Given the description of an element on the screen output the (x, y) to click on. 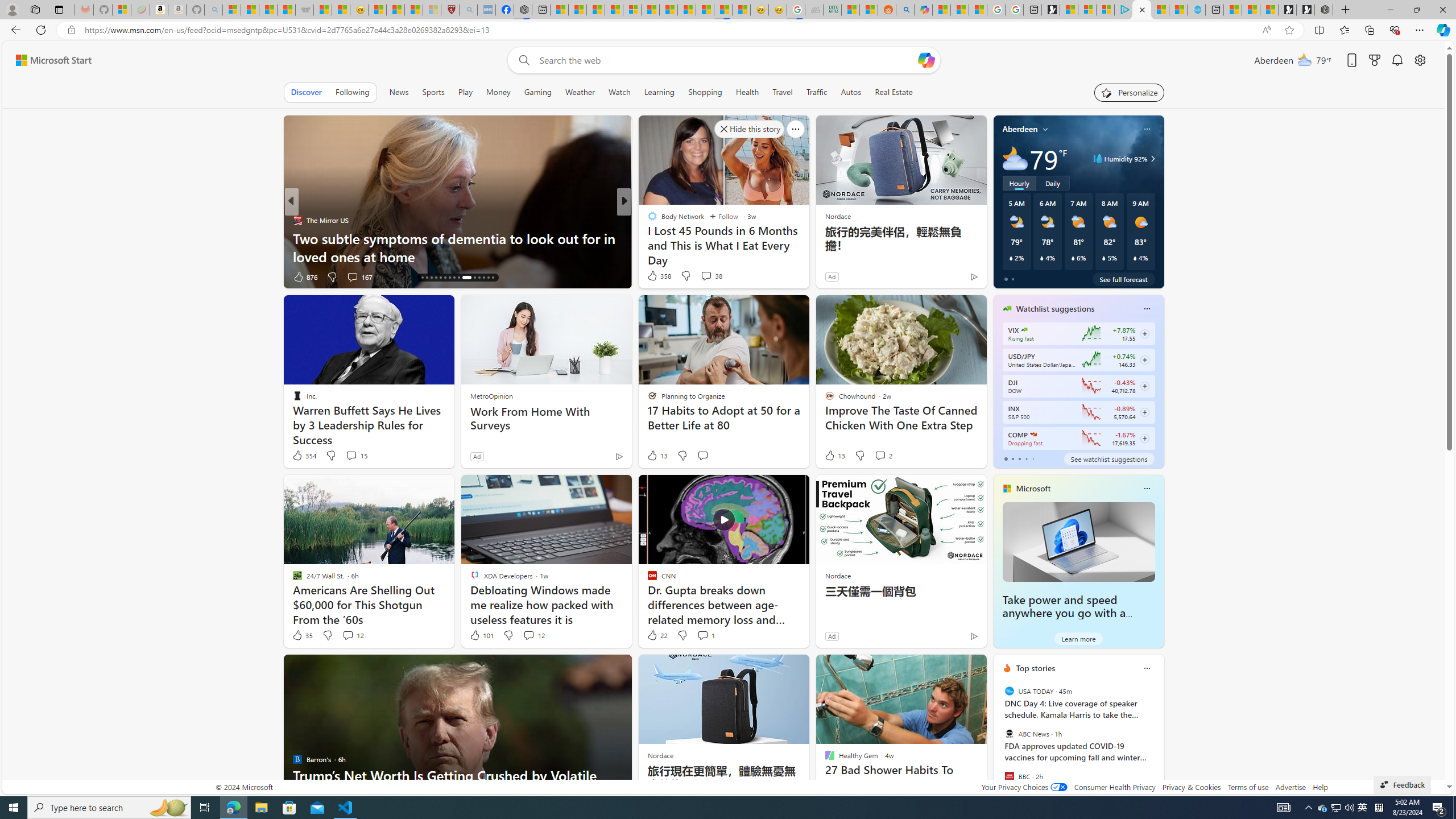
358 Like (658, 275)
AutomationID: tab-18 (431, 277)
ABC News (1008, 733)
AutomationID: tab-20 (440, 277)
Shopping (705, 92)
View comments 626 Comment (6, 276)
Take power and speed anywhere you go with a Windows laptop. (1077, 541)
67 Like (652, 276)
Privacy & Cookies (1191, 786)
More options (1146, 668)
The Best Single Stock to Own for 5 Years (807, 256)
